Given the description of an element on the screen output the (x, y) to click on. 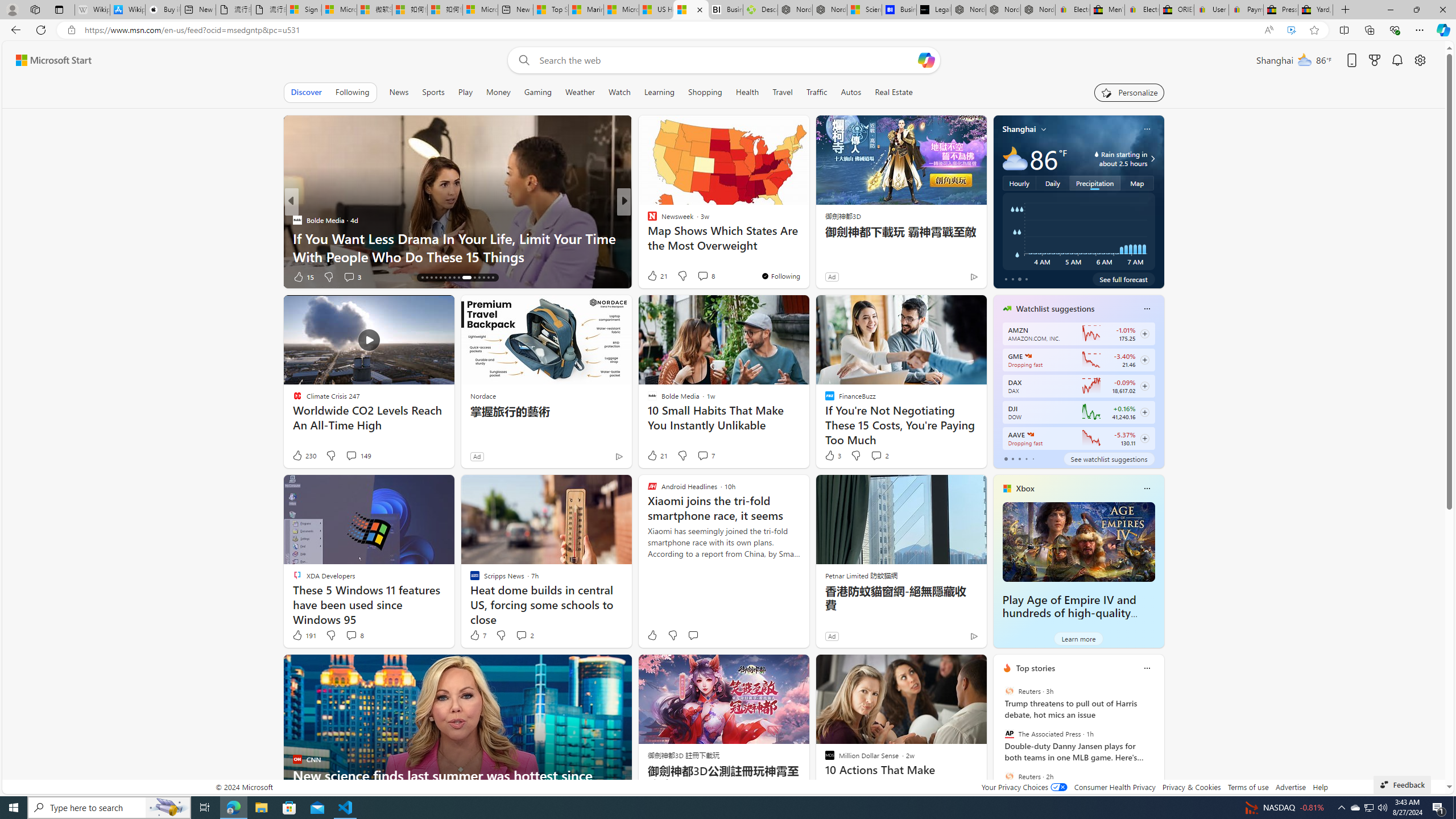
Microsoft account | Account Checkup (479, 9)
You're following The Weather Channel (949, 279)
Enter your search term (726, 59)
You're following Newsweek (780, 275)
View comments 102 Comment (6, 276)
Payments Terms of Use | eBay.com (1246, 9)
Class: weather-arrow-glyph (1152, 158)
My location (1043, 128)
User Privacy Notice | eBay (1211, 9)
